Given the description of an element on the screen output the (x, y) to click on. 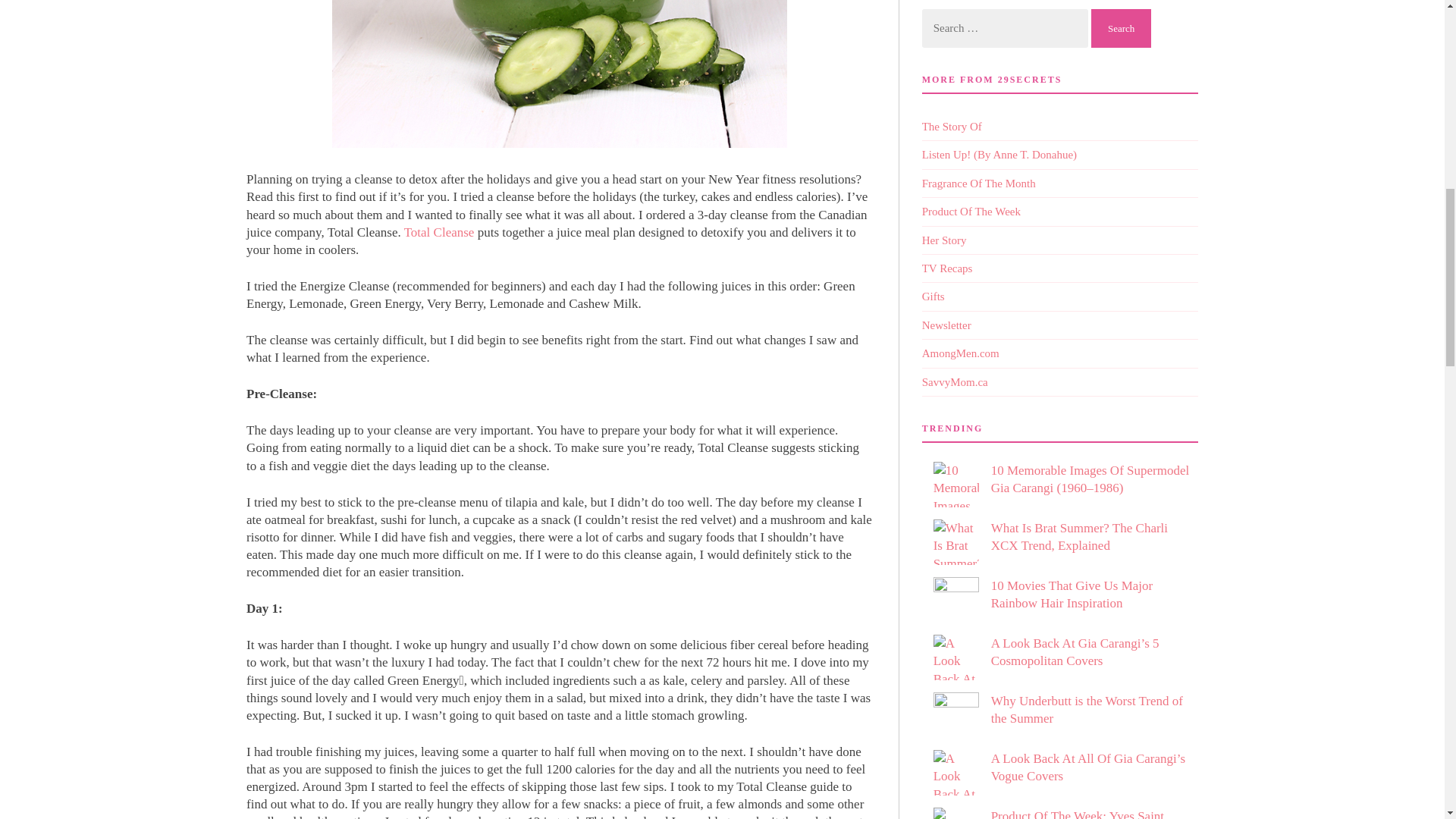
total cleanse (439, 164)
Total Cleanse (398, 809)
Total Cleanse (439, 164)
